Given the description of an element on the screen output the (x, y) to click on. 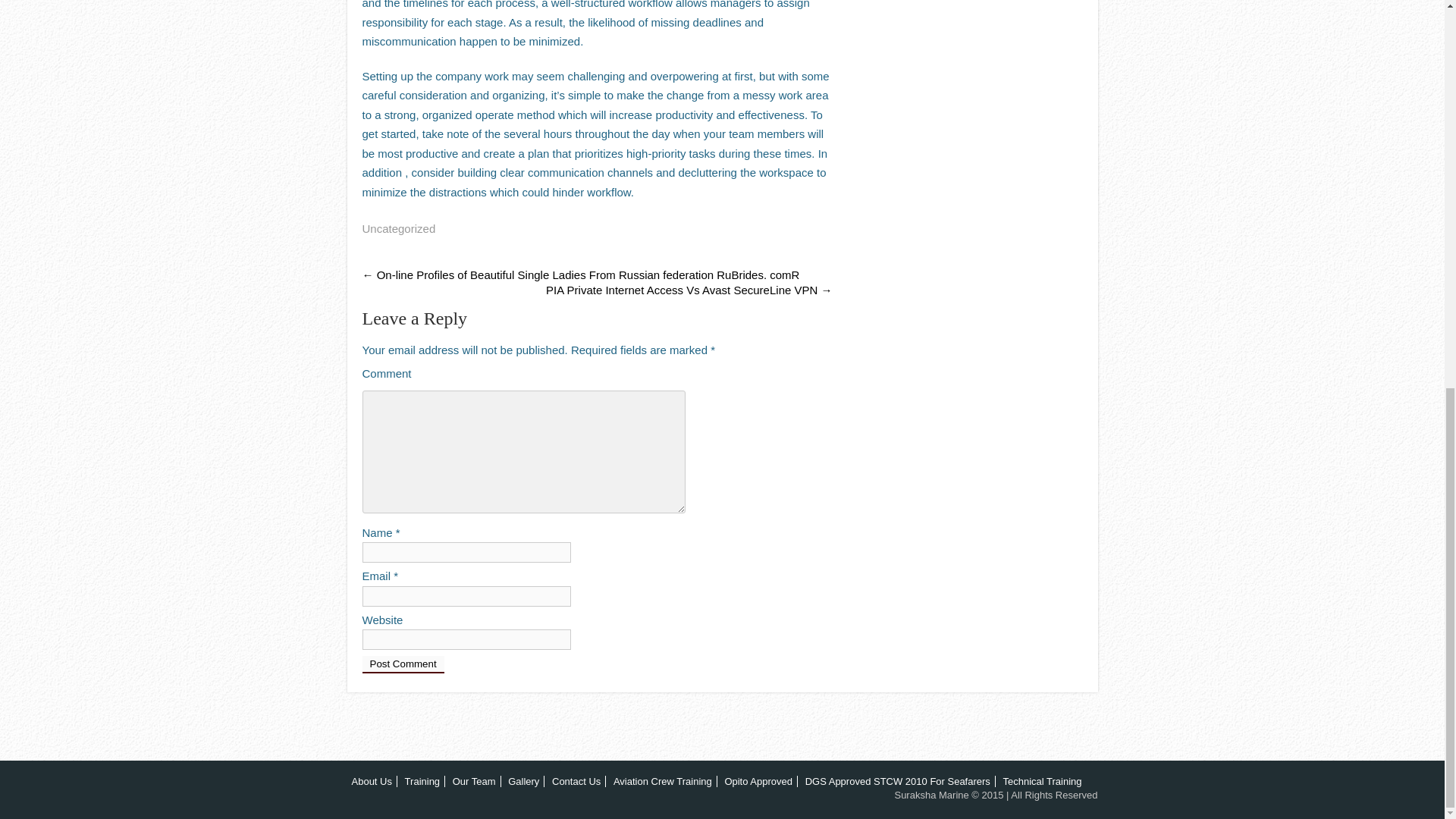
Post Comment (403, 664)
Post Comment (403, 664)
Uncategorized (398, 228)
